Given the description of an element on the screen output the (x, y) to click on. 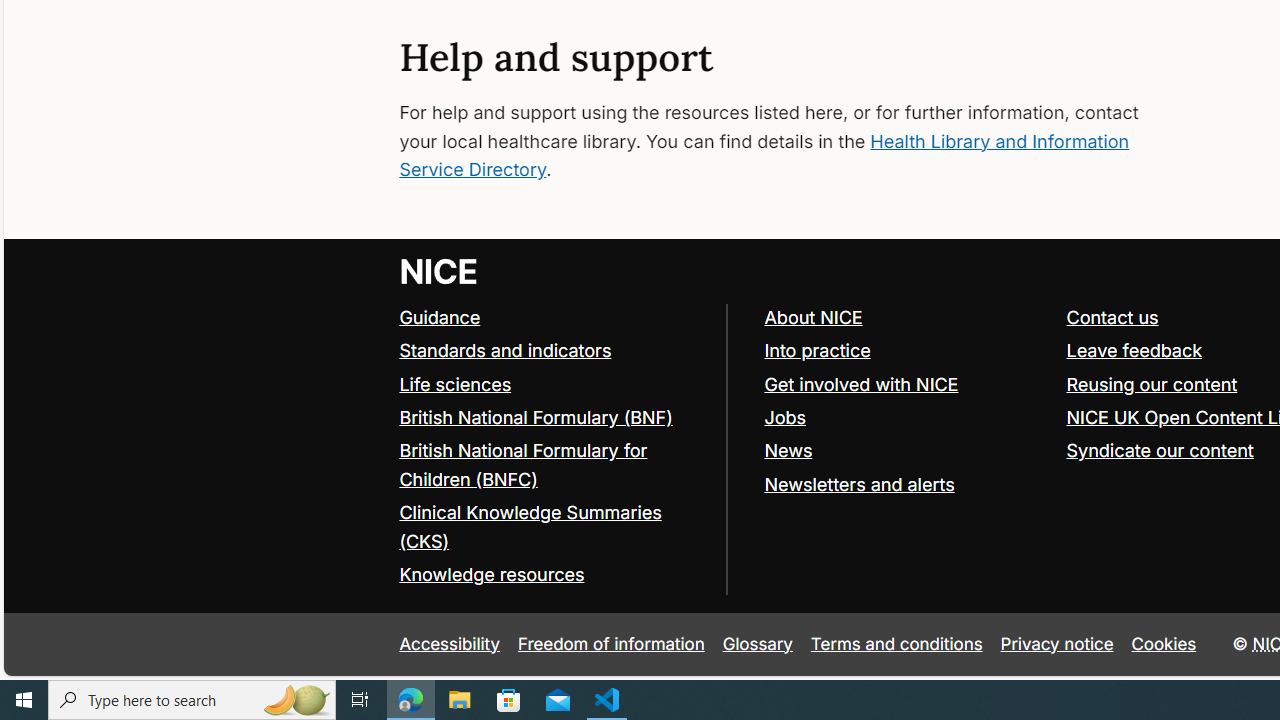
Knowledge resources (554, 575)
Syndicate our content (1160, 450)
Health Library and Information Service Directory (764, 155)
Freedom of information (611, 644)
Privacy notice (1056, 644)
Life sciences (554, 385)
Privacy notice (1056, 644)
Reusing our content (1151, 383)
Terms and conditions (896, 644)
Knowledge resources (491, 574)
Accessibility (449, 644)
Terms and conditions (896, 644)
Jobs (906, 417)
